Given the description of an element on the screen output the (x, y) to click on. 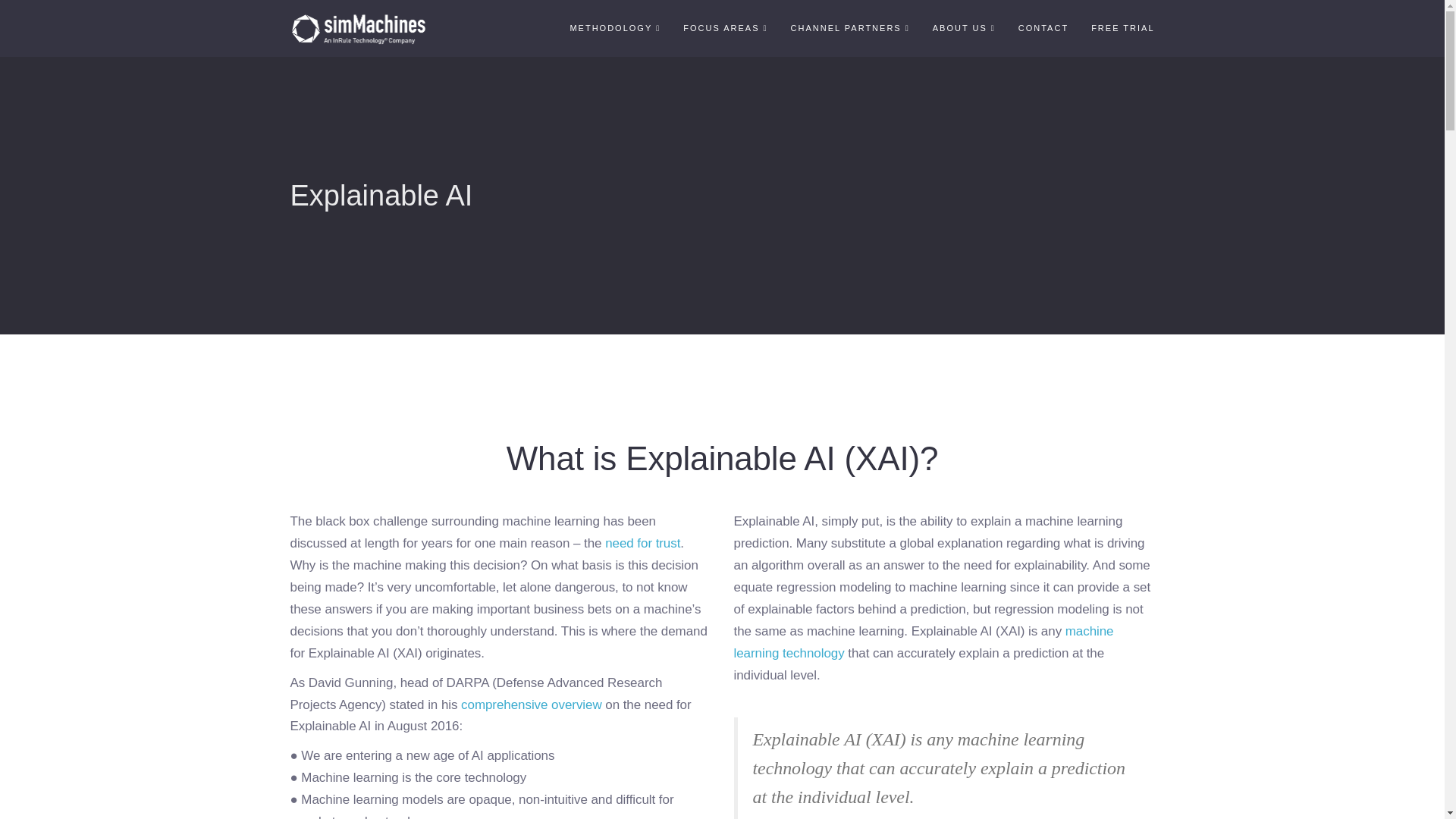
FOCUS AREAS (724, 28)
FREE TRIAL (1122, 28)
comprehensive overview (531, 704)
METHODOLOGY (615, 28)
CHANNEL PARTNERS (850, 28)
machine learning technology (923, 642)
need for trust (642, 543)
ABOUT US (964, 28)
simMachines (357, 28)
